Given the description of an element on the screen output the (x, y) to click on. 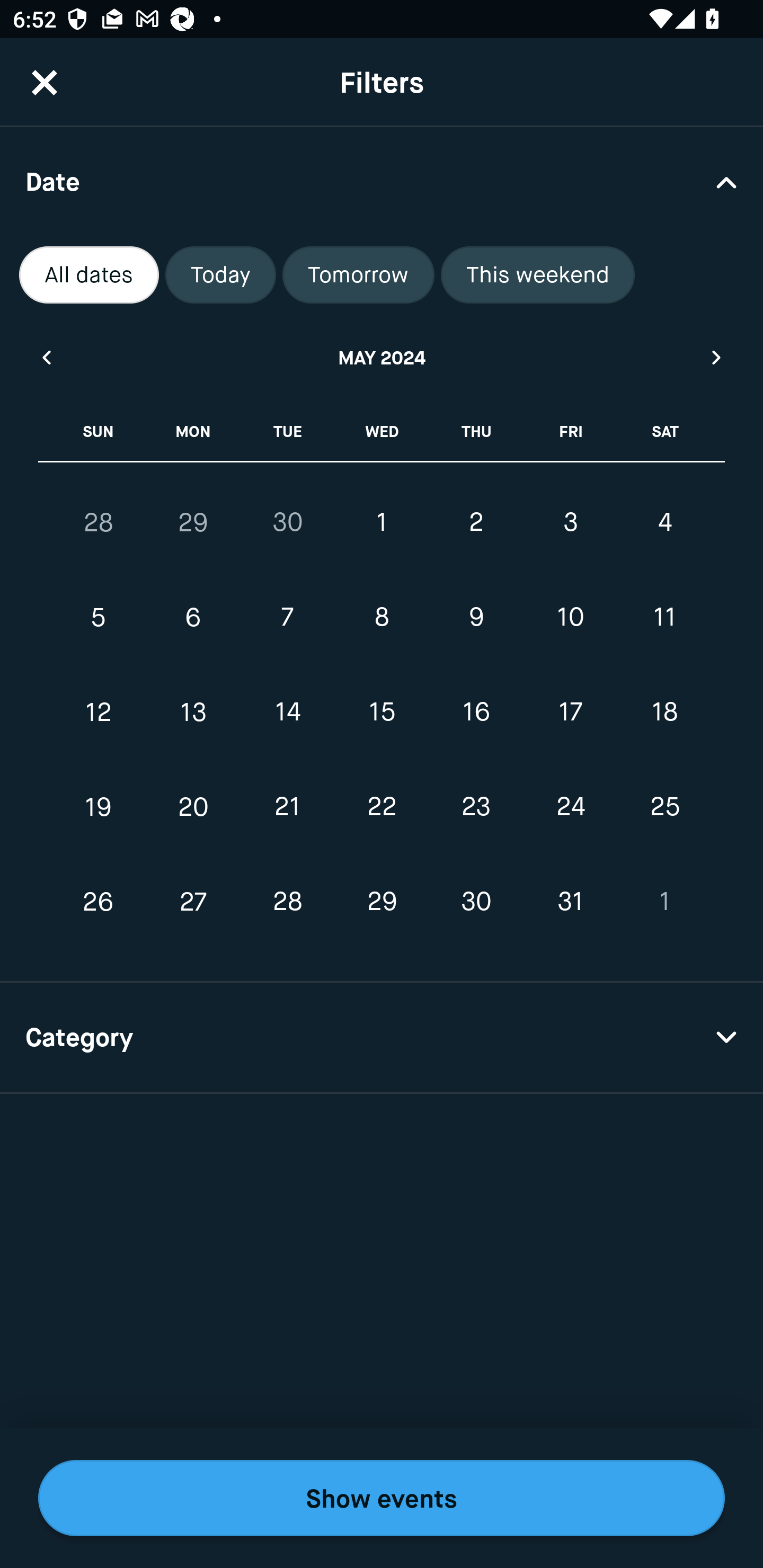
CloseButton (44, 82)
Date Drop Down Arrow (381, 181)
All dates (88, 274)
Today (220, 274)
Tomorrow (358, 274)
This weekend (537, 274)
Previous (45, 357)
Next (717, 357)
28 (98, 522)
29 (192, 522)
30 (287, 522)
1 (381, 522)
2 (475, 522)
3 (570, 522)
4 (664, 522)
5 (98, 617)
6 (192, 617)
7 (287, 617)
8 (381, 617)
9 (475, 617)
10 (570, 617)
11 (664, 617)
12 (98, 711)
13 (192, 711)
14 (287, 711)
15 (381, 711)
16 (475, 711)
17 (570, 711)
18 (664, 711)
19 (98, 806)
20 (192, 806)
21 (287, 806)
22 (381, 806)
23 (475, 806)
24 (570, 806)
25 (664, 806)
26 (98, 901)
27 (192, 901)
28 (287, 901)
29 (381, 901)
30 (475, 901)
31 (570, 901)
1 (664, 901)
Category Drop Down Arrow (381, 1038)
Show events (381, 1497)
